Given the description of an element on the screen output the (x, y) to click on. 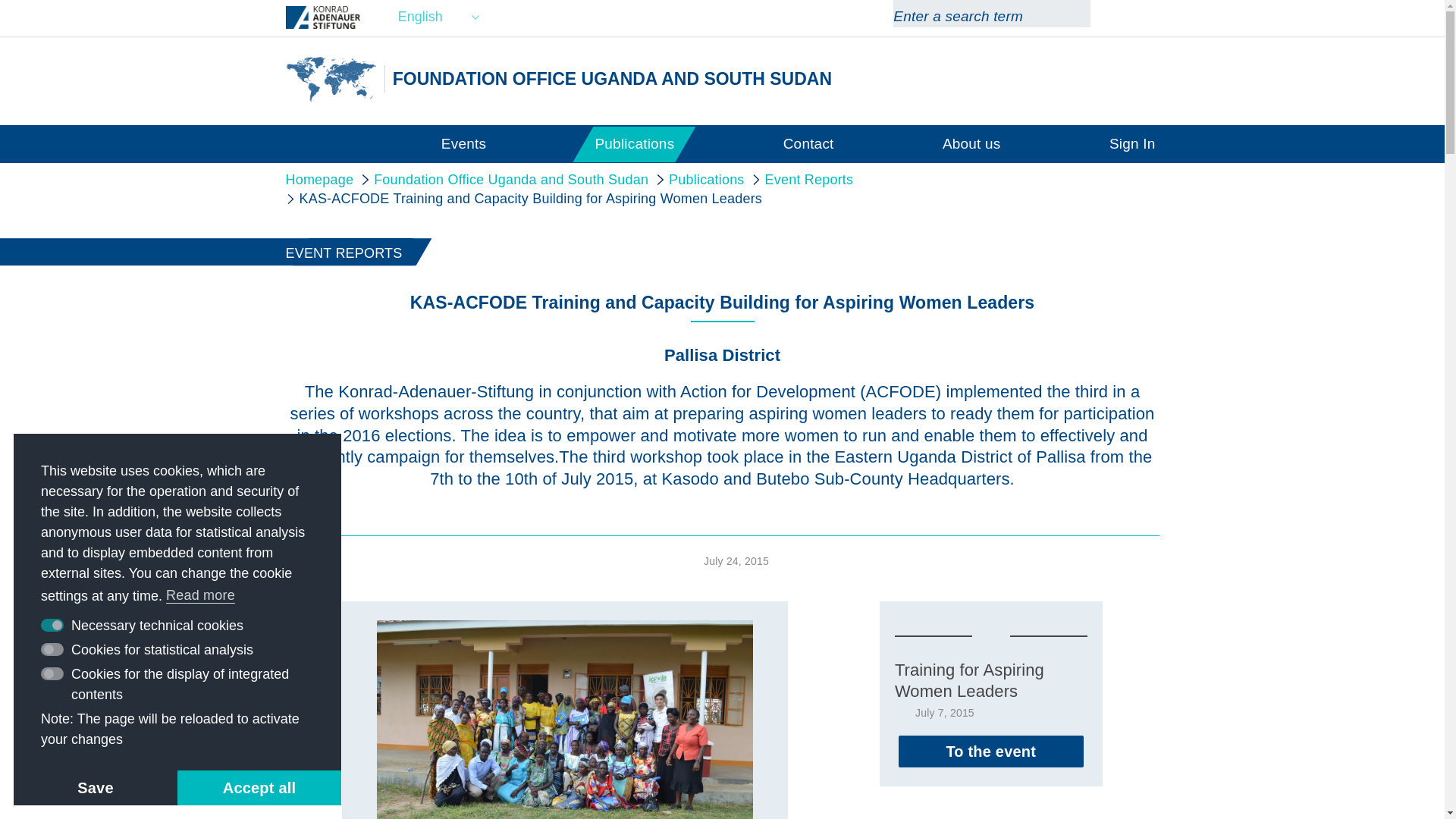
Publications (634, 142)
Send via mail (301, 650)
Skip to Main Content (3, 3)
Facebook (1149, 17)
Print (301, 616)
Share (301, 684)
Contact (808, 142)
Save (95, 787)
Events (463, 142)
